Given the description of an element on the screen output the (x, y) to click on. 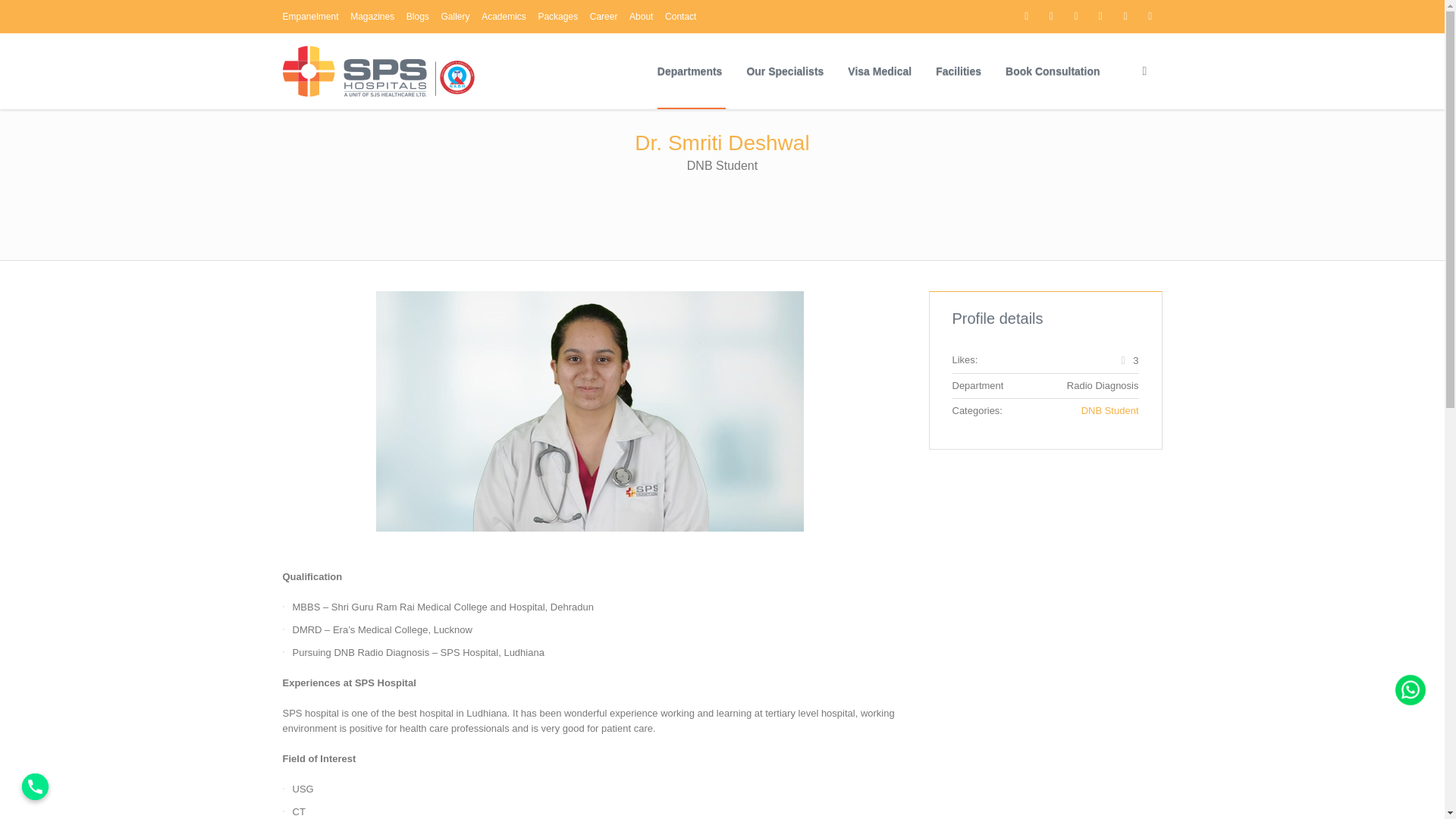
Contact (680, 16)
Career (603, 16)
Instagram (1050, 16)
3 (1128, 360)
About (640, 16)
LinkedIn (1125, 16)
Packages (557, 16)
Book Consultation (1052, 70)
Facilities (957, 70)
Pinterest (1149, 16)
Our Specialists (784, 70)
DNB Student (1109, 410)
Twitter (1075, 16)
Departments (690, 70)
Blogs (417, 16)
